Given the description of an element on the screen output the (x, y) to click on. 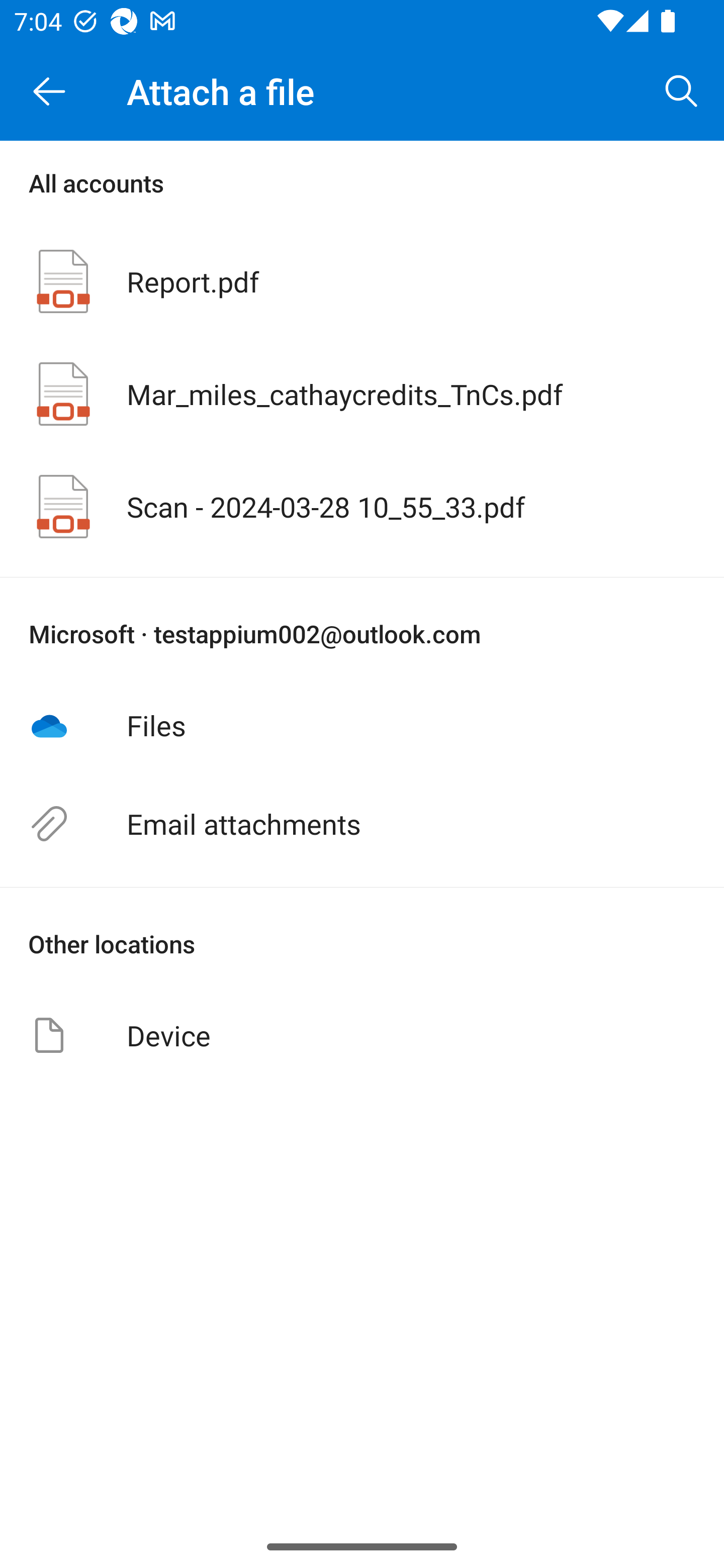
Navigate up (49, 91)
Search button (681, 90)
Report.pdf (362, 281)
Mar_miles_cathaycredits_TnCs.pdf (362, 393)
Scan - 2024-03-28 10_55_33.pdf (362, 506)
Files (362, 724)
Email attachments (362, 823)
Device (362, 1035)
